Given the description of an element on the screen output the (x, y) to click on. 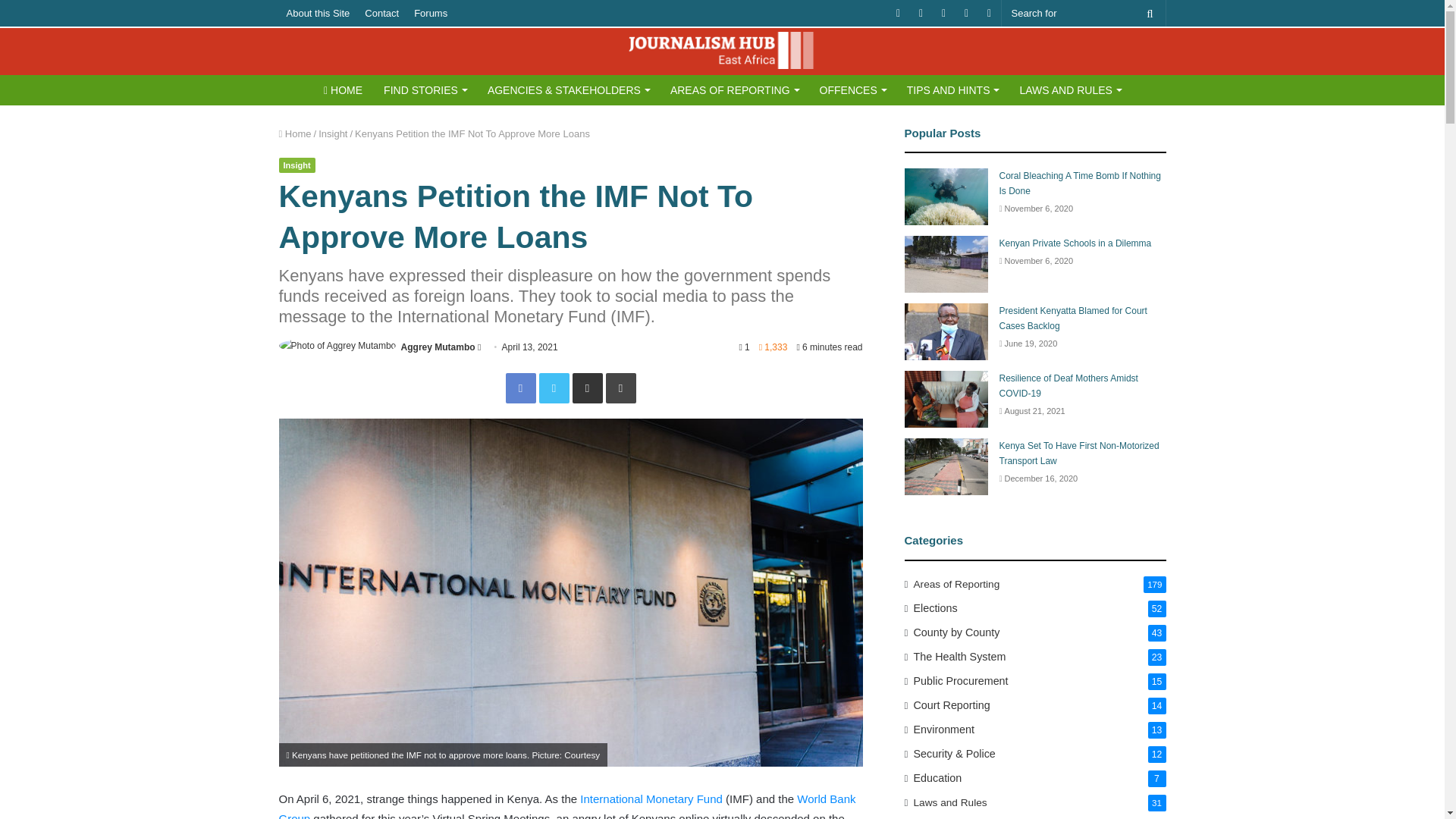
OFFENCES (852, 90)
Home (295, 133)
Twitter (553, 388)
Insight (297, 165)
Search for (1150, 13)
Search for (1083, 13)
Contact (381, 13)
FIND STORIES (424, 90)
Facebook (520, 388)
LAWS AND RULES (1070, 90)
Aggrey Mutambo (438, 347)
Aggrey Mutambo (438, 347)
About this Site (318, 13)
TIPS AND HINTS (952, 90)
AREAS OF REPORTING (734, 90)
